Given the description of an element on the screen output the (x, y) to click on. 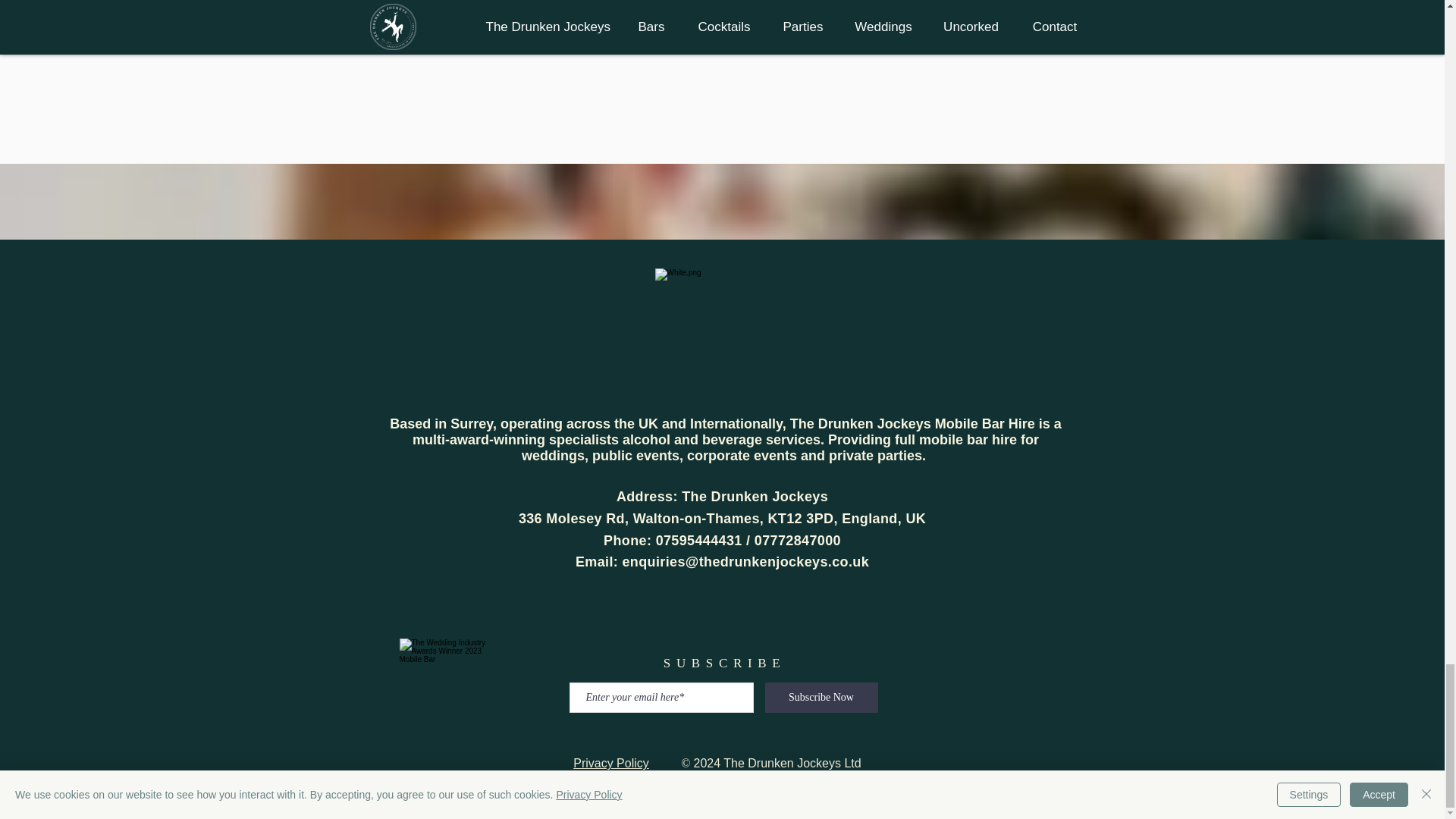
Subscribe Now (820, 697)
07595444431 (699, 540)
Privacy Policy (611, 762)
07772847000 (797, 540)
